Given the description of an element on the screen output the (x, y) to click on. 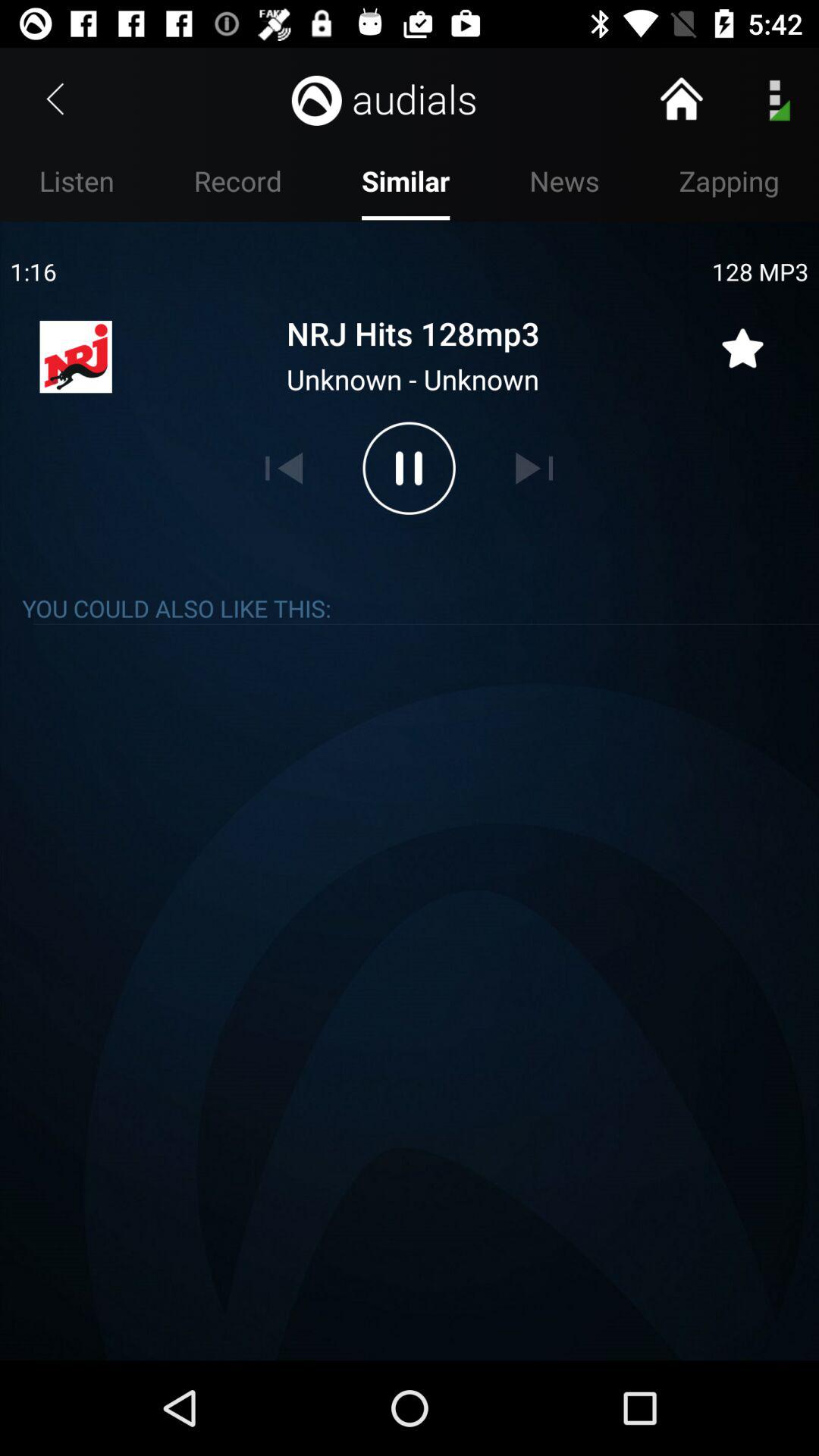
skip to next song (534, 468)
